Given the description of an element on the screen output the (x, y) to click on. 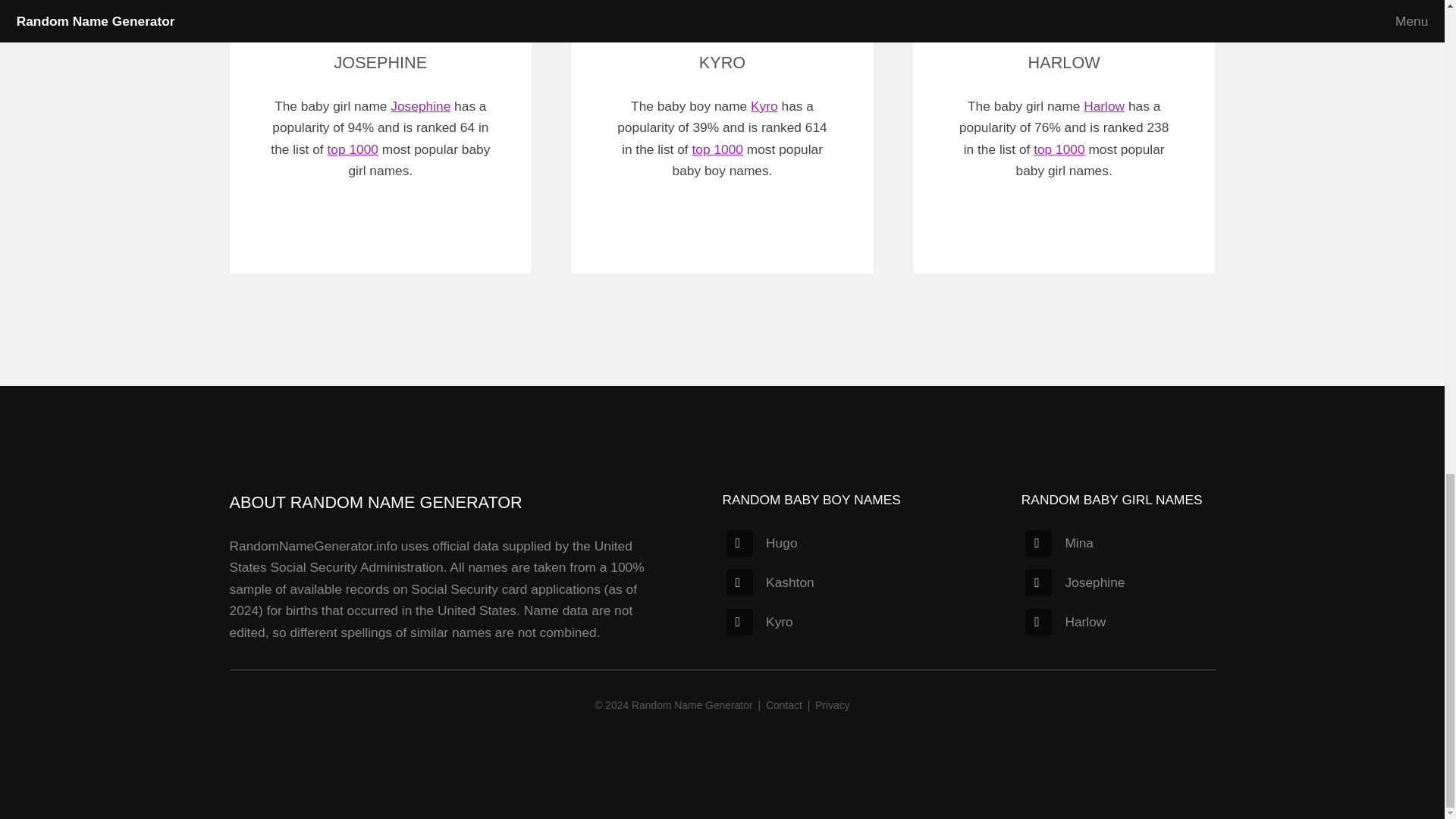
Contact (783, 705)
 Kyro (759, 621)
 Josephine (1074, 581)
 Kashton (769, 581)
 Hugo (761, 542)
 Harlow (1065, 621)
Random Name Generator (691, 705)
 Mina (1059, 542)
top 1000 (1058, 149)
top 1000 (352, 149)
